Given the description of an element on the screen output the (x, y) to click on. 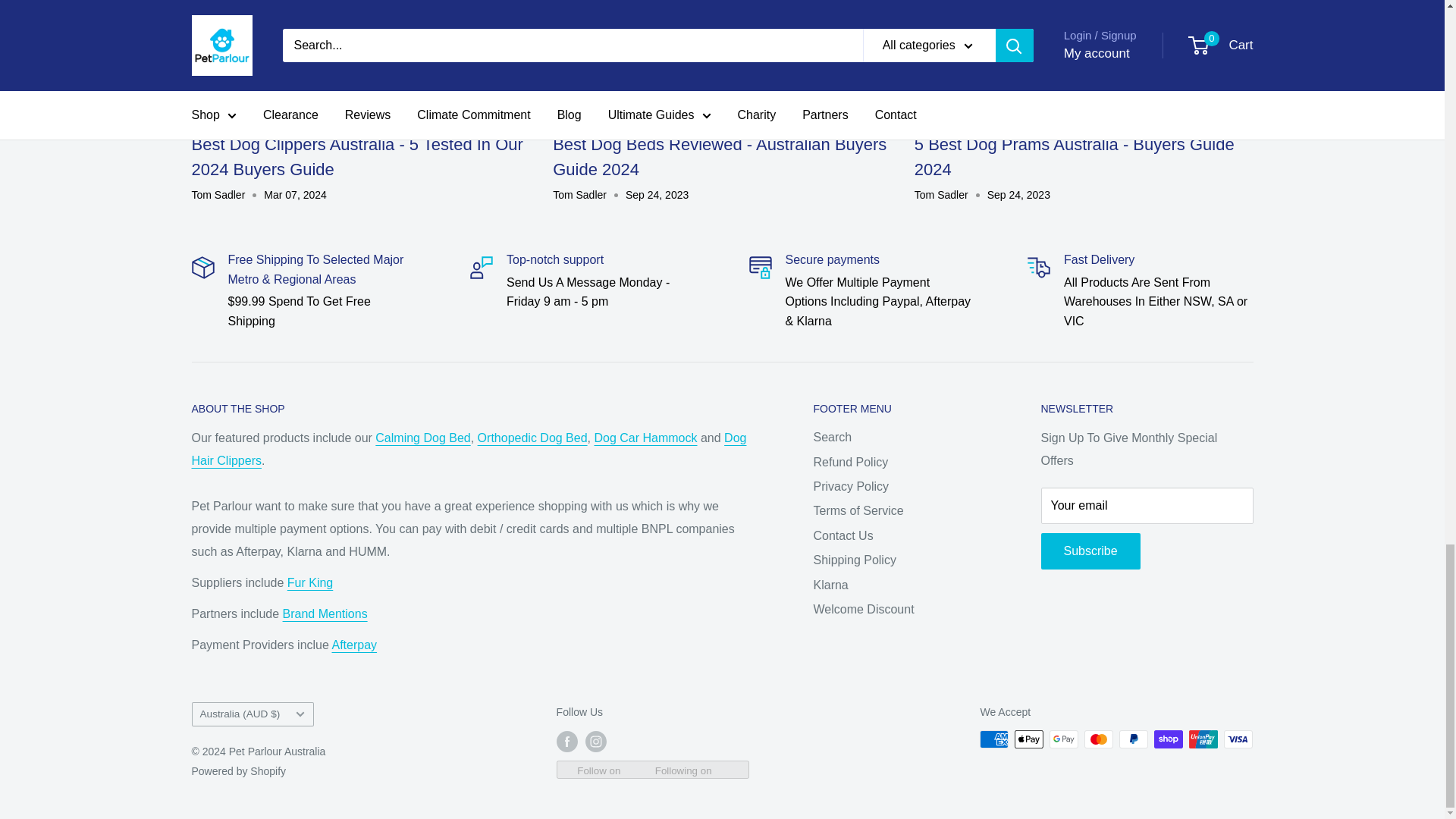
Orthopedic Dog Bed (532, 437)
Dog Hair Clippers (467, 448)
Dog Car Hammock (645, 437)
Calming Dog Bed (422, 437)
